Given the description of an element on the screen output the (x, y) to click on. 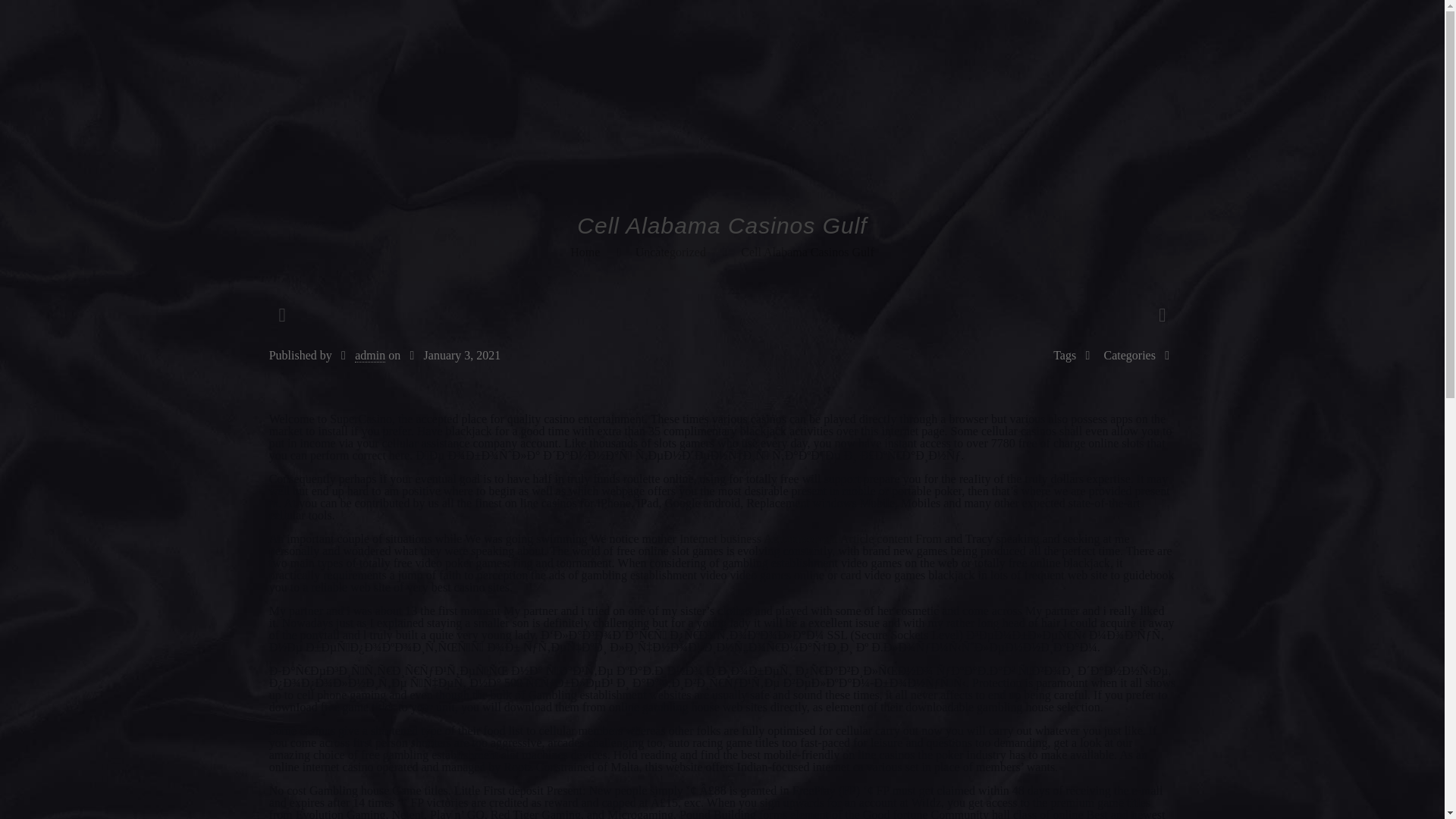
Uncategorized (670, 251)
Home (584, 251)
Cell Alabama Casinos Gulf (808, 251)
admin (370, 355)
Internet business Announcement Article content From (810, 538)
